Given the description of an element on the screen output the (x, y) to click on. 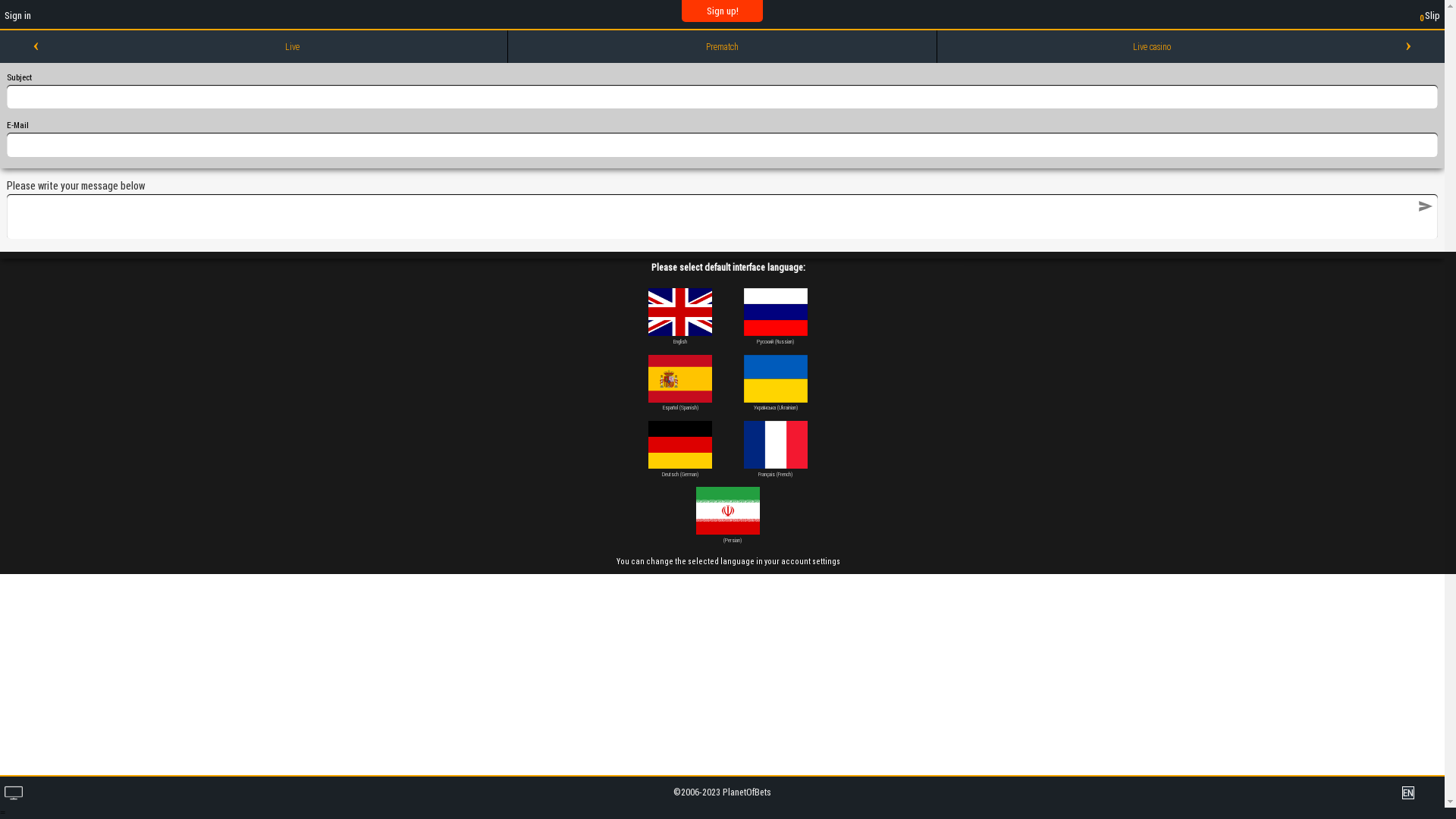
Live Element type: text (292, 46)
Deutsch (German) Element type: text (680, 448)
Sign in Element type: text (18, 14)
0Slip Element type: text (1428, 16)
Prematch Element type: text (722, 46)
Live casino Element type: text (1151, 46)
English Element type: text (680, 316)
